Given the description of an element on the screen output the (x, y) to click on. 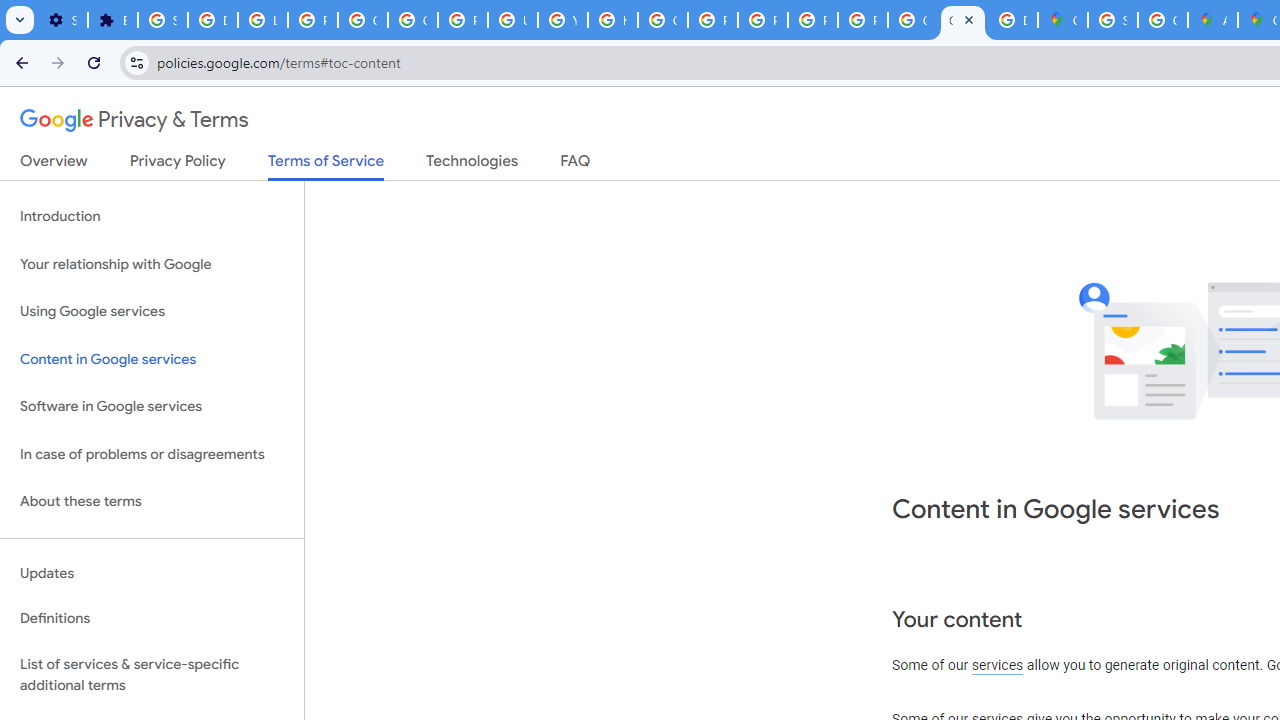
Google Account Help (362, 20)
Your relationship with Google (152, 263)
YouTube (562, 20)
Definitions (152, 619)
https://scholar.google.com/ (612, 20)
Sign in - Google Accounts (1112, 20)
About these terms (152, 502)
